Given the description of an element on the screen output the (x, y) to click on. 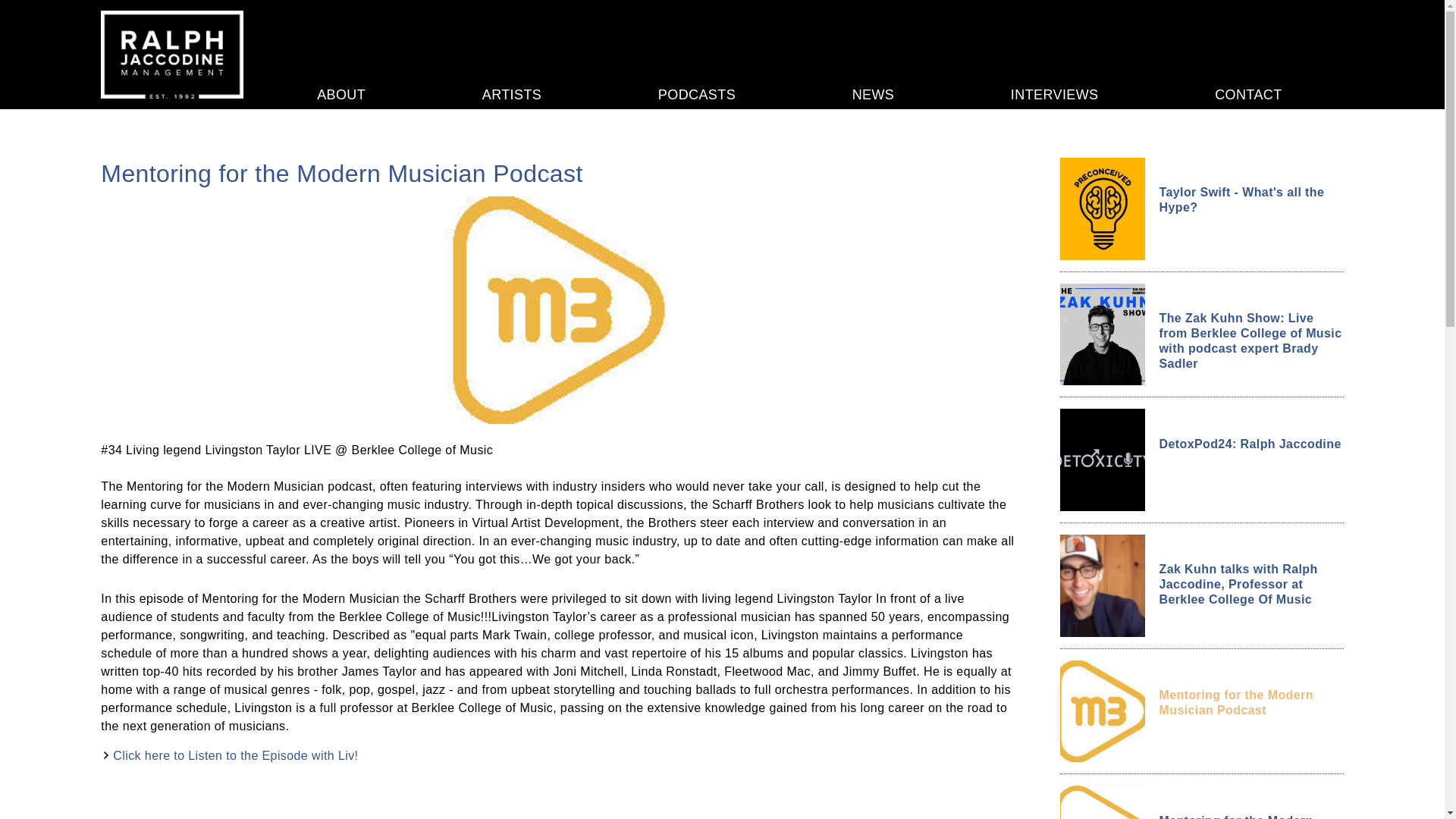
PODCASTS (696, 94)
ARTISTS (511, 94)
Mentoring for the Modern Musician Podcast (1250, 702)
CONTACT (1247, 94)
INTERVIEWS (1054, 94)
Taylor Swift - What's all the Hype? (1250, 200)
Click here to Listen to the Episode with Liv! (235, 755)
ABOUT (341, 94)
DetoxPod24: Ralph Jaccodine (1250, 444)
NEWS (873, 94)
